Given the description of an element on the screen output the (x, y) to click on. 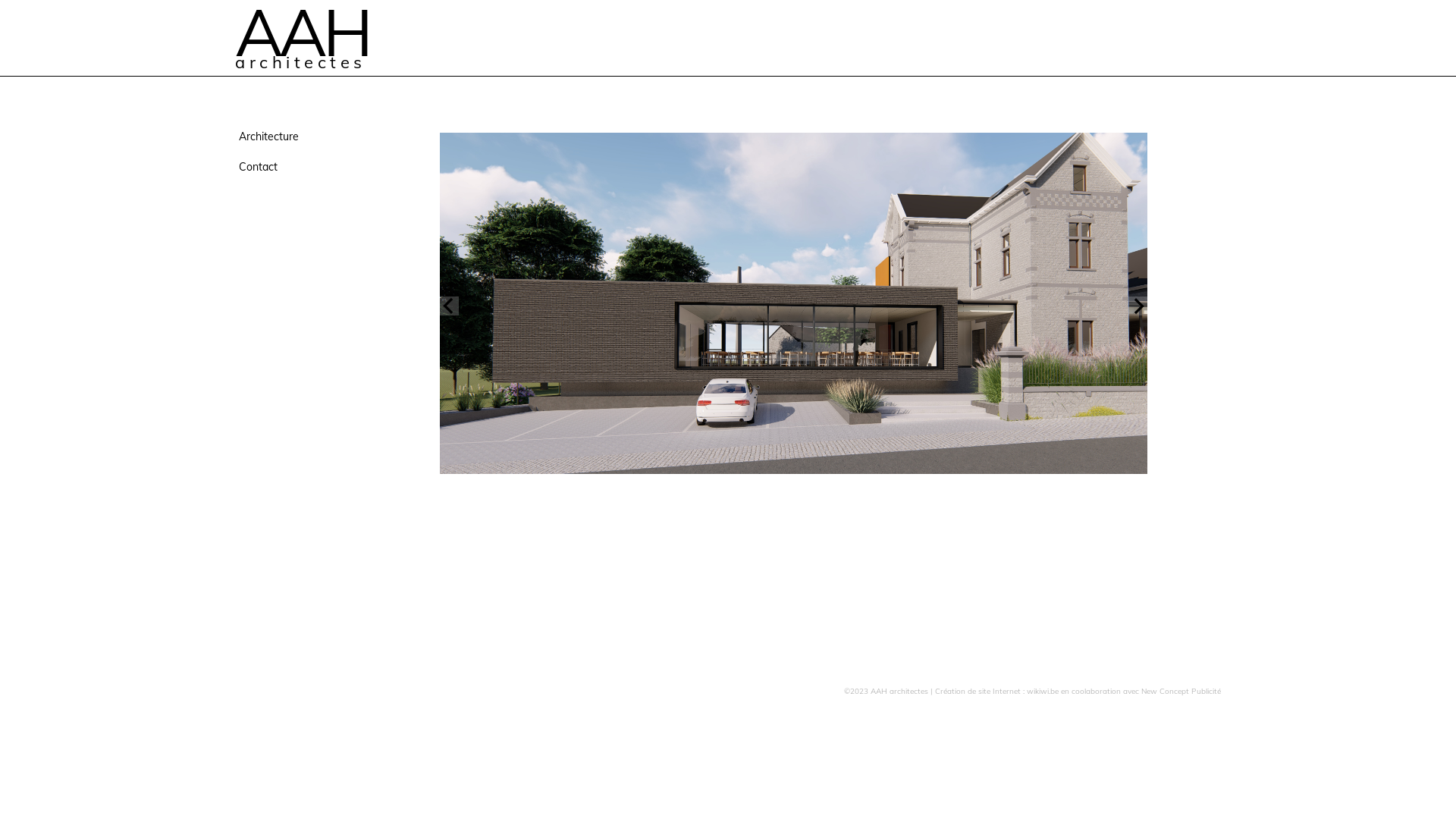
Contact Element type: text (305, 166)
Architecture Element type: text (305, 136)
> Element type: text (1137, 305)
AAH
architectes Element type: text (310, 39)
< Element type: text (448, 305)
